Given the description of an element on the screen output the (x, y) to click on. 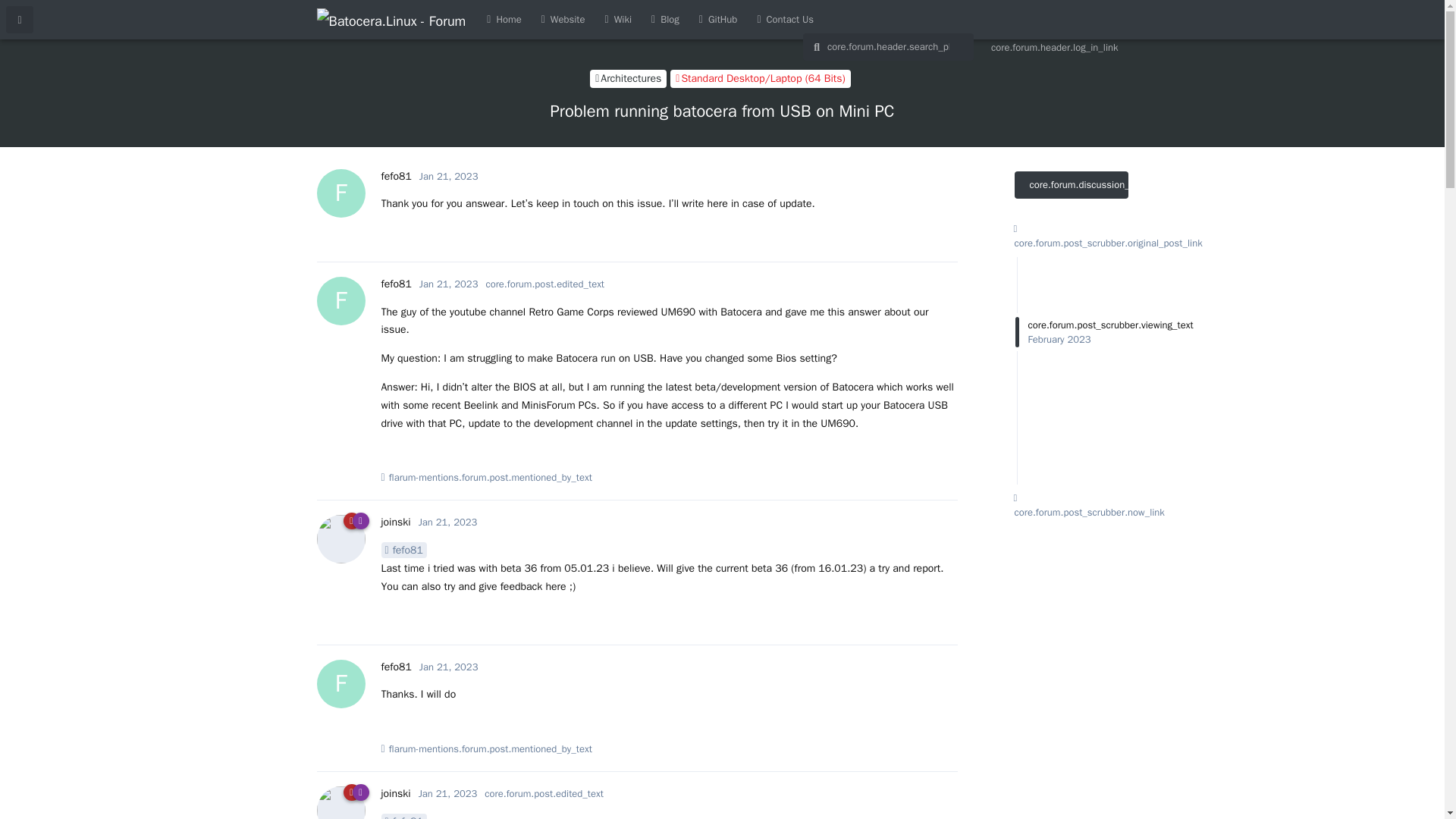
joinski (395, 175)
fefo81 (395, 521)
Saturday, January 21, 2023 5:23 AM (403, 549)
joinski (448, 793)
Architectures (395, 793)
Saturday, January 21, 2023 5:02 AM (627, 78)
Contact Us (449, 666)
fefo81 (785, 19)
Jan 21, 2023 (403, 816)
Ask questions, ideas and more about an architecture problem (448, 521)
Home (627, 78)
Saturday, January 21, 2023 3:14 AM (395, 283)
Jan 21, 2023 (504, 19)
